Given the description of an element on the screen output the (x, y) to click on. 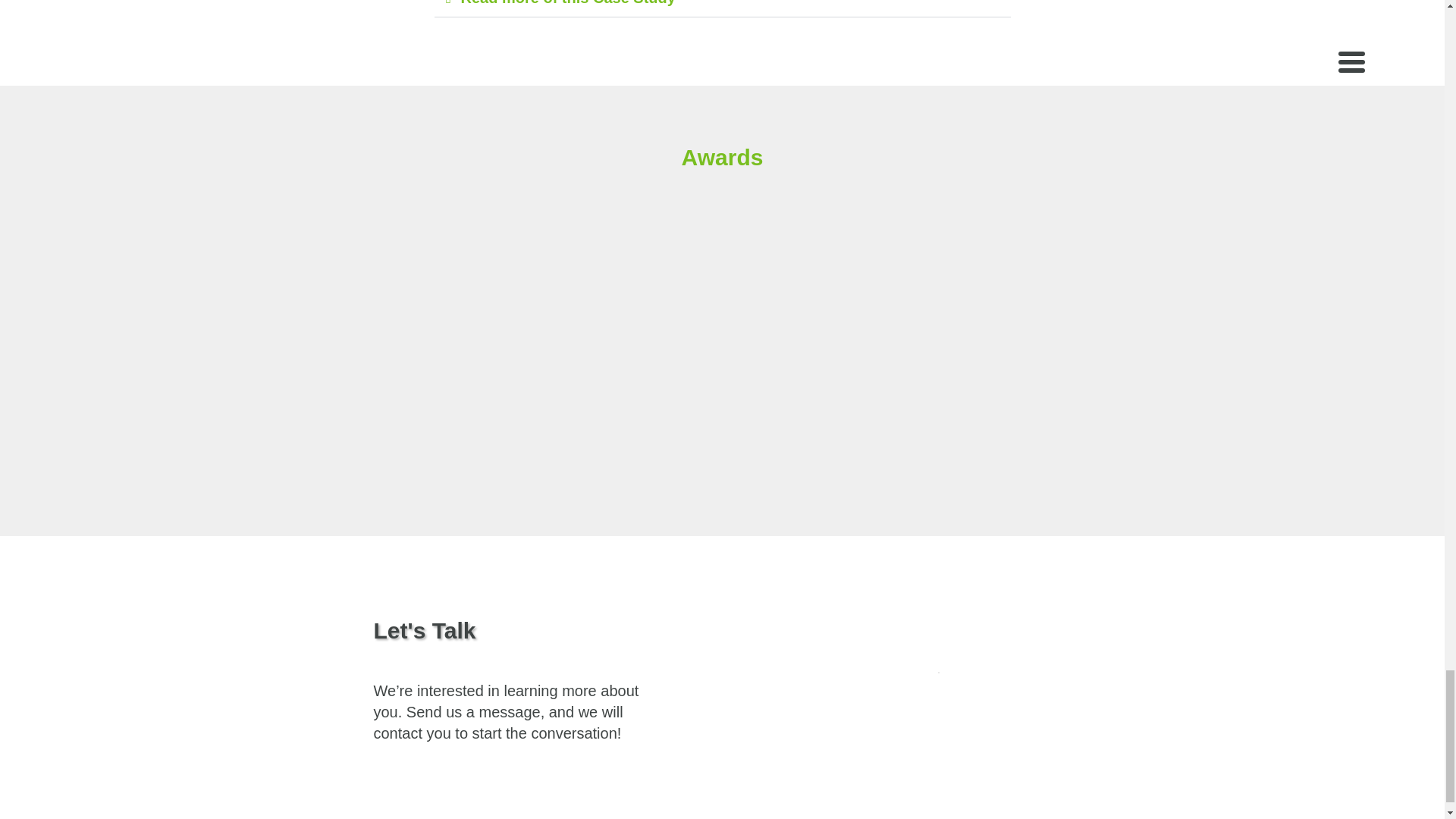
Read more of this Case Study (568, 2)
